Given the description of an element on the screen output the (x, y) to click on. 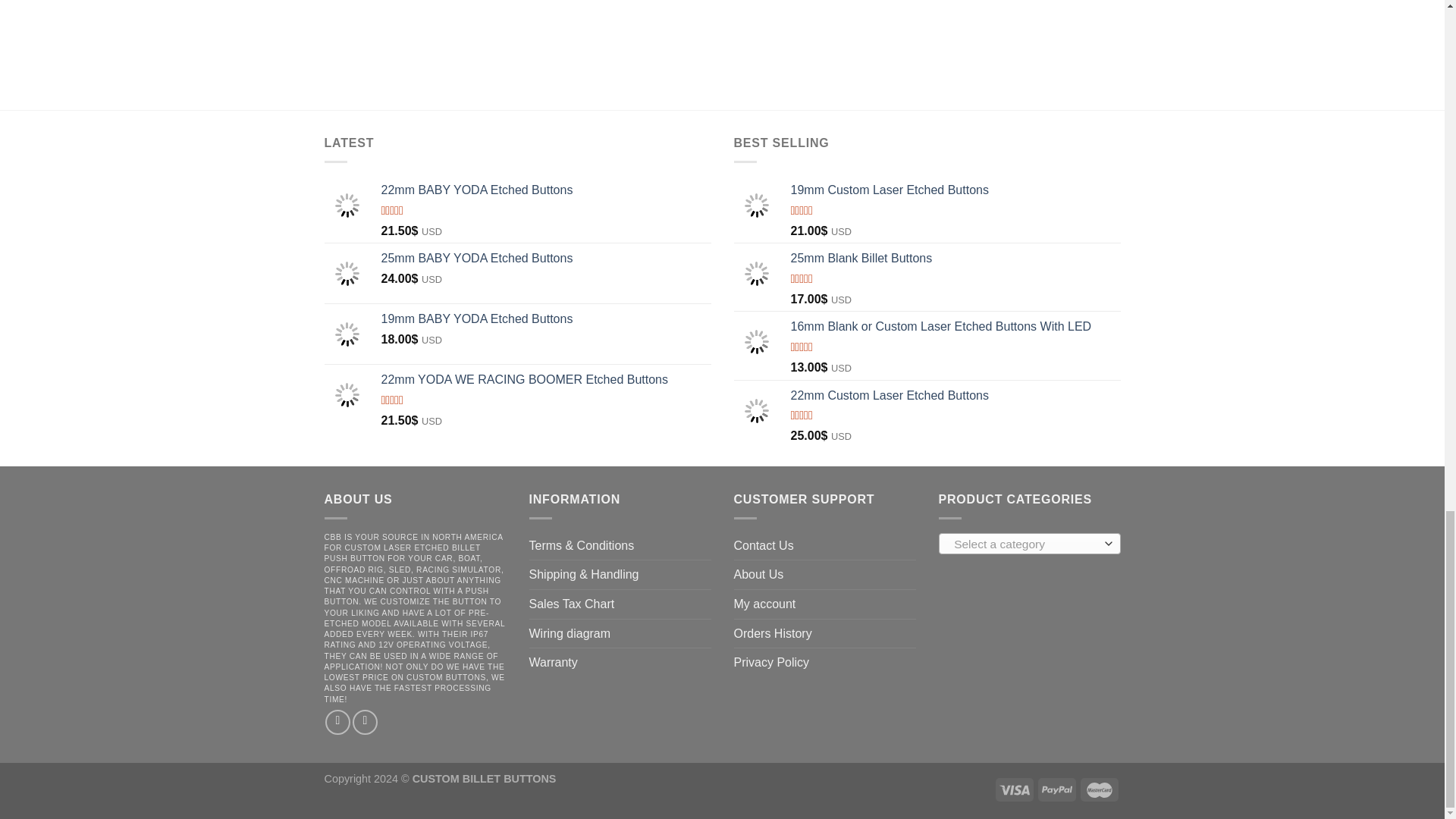
Follow on Facebook (337, 722)
Follow on Instagram (364, 722)
